Given the description of an element on the screen output the (x, y) to click on. 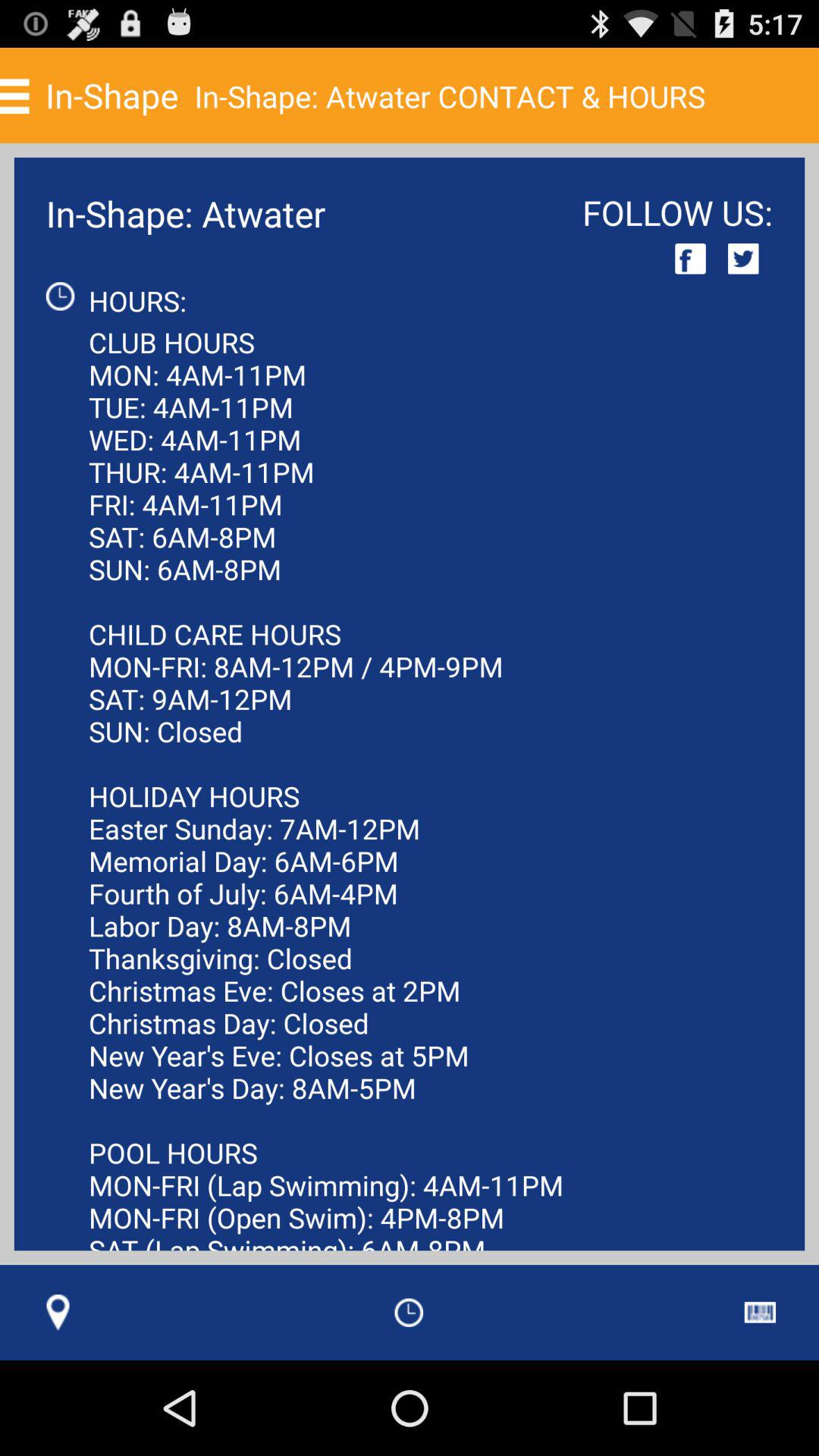
select the app below the follow us: app (743, 258)
